Given the description of an element on the screen output the (x, y) to click on. 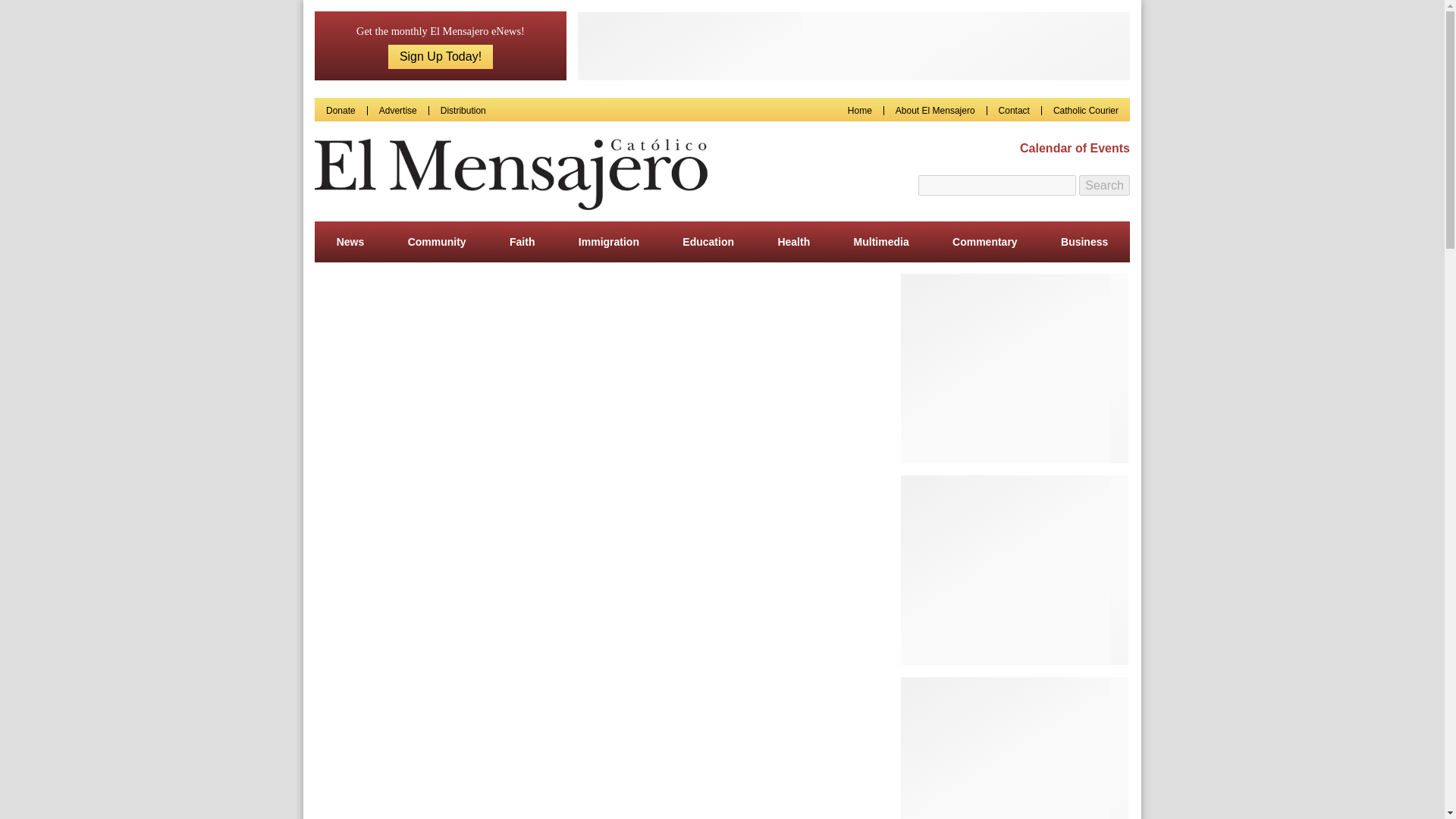
Business (1084, 241)
Multimedia (881, 241)
Search (1103, 185)
Education (708, 241)
Faith (521, 241)
News (349, 241)
Donate (340, 110)
Immigration (608, 241)
Search (1103, 185)
Community (436, 241)
